Given the description of an element on the screen output the (x, y) to click on. 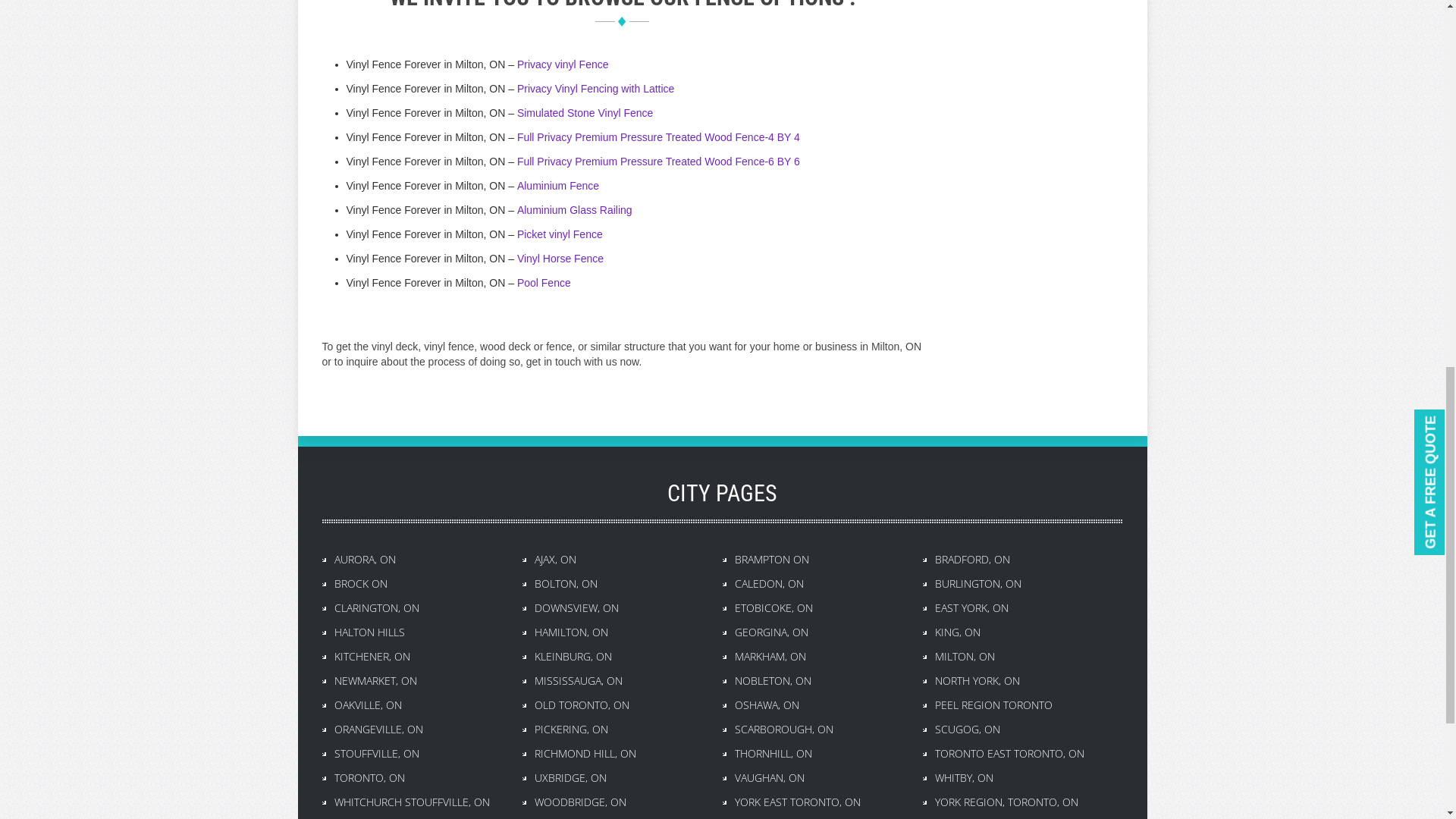
Privacy vinyl (547, 64)
